Given the description of an element on the screen output the (x, y) to click on. 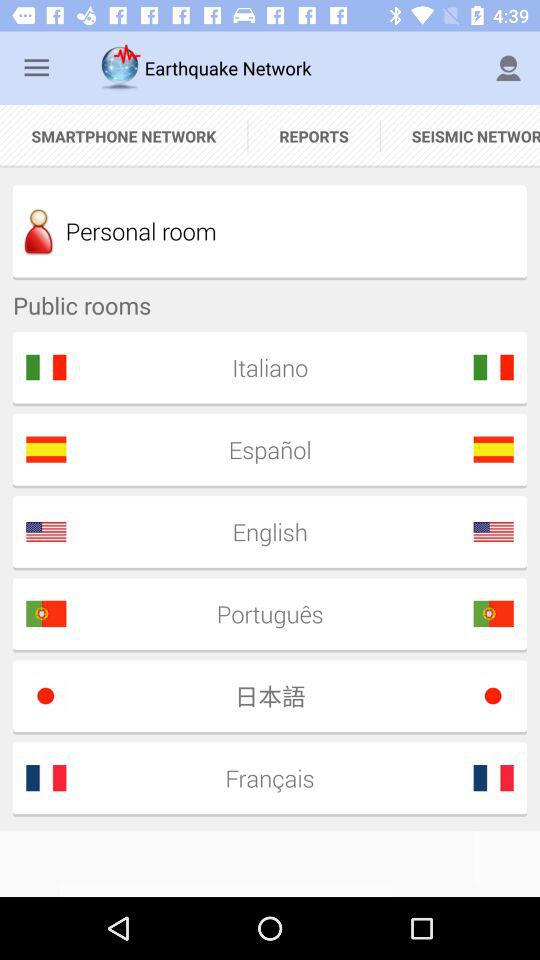
turn off seismic networks (460, 136)
